Given the description of an element on the screen output the (x, y) to click on. 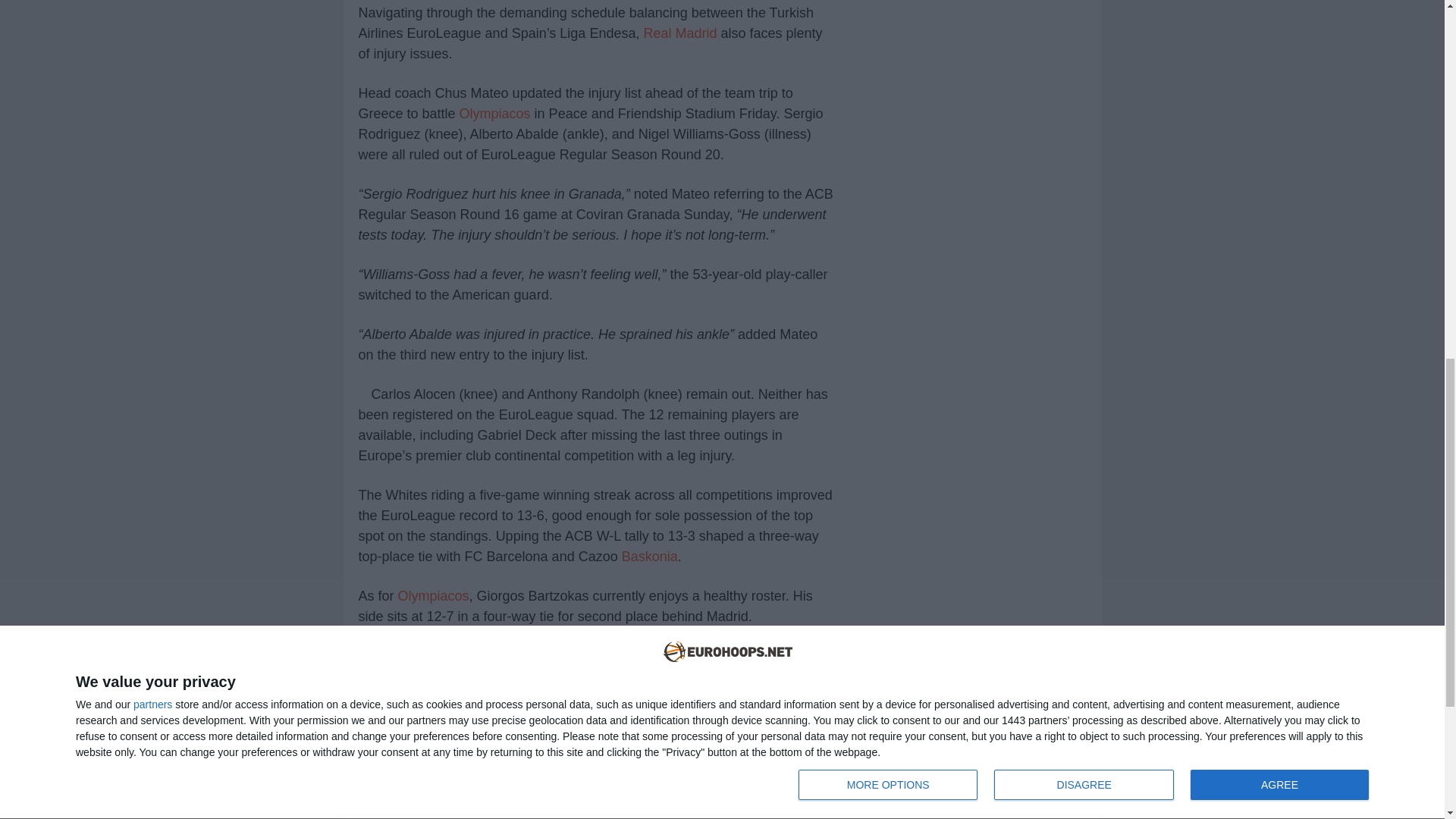
Baskonia (649, 556)
Real Madrid (679, 32)
Olympiacos (432, 595)
Olympiacos (495, 113)
